Given the description of an element on the screen output the (x, y) to click on. 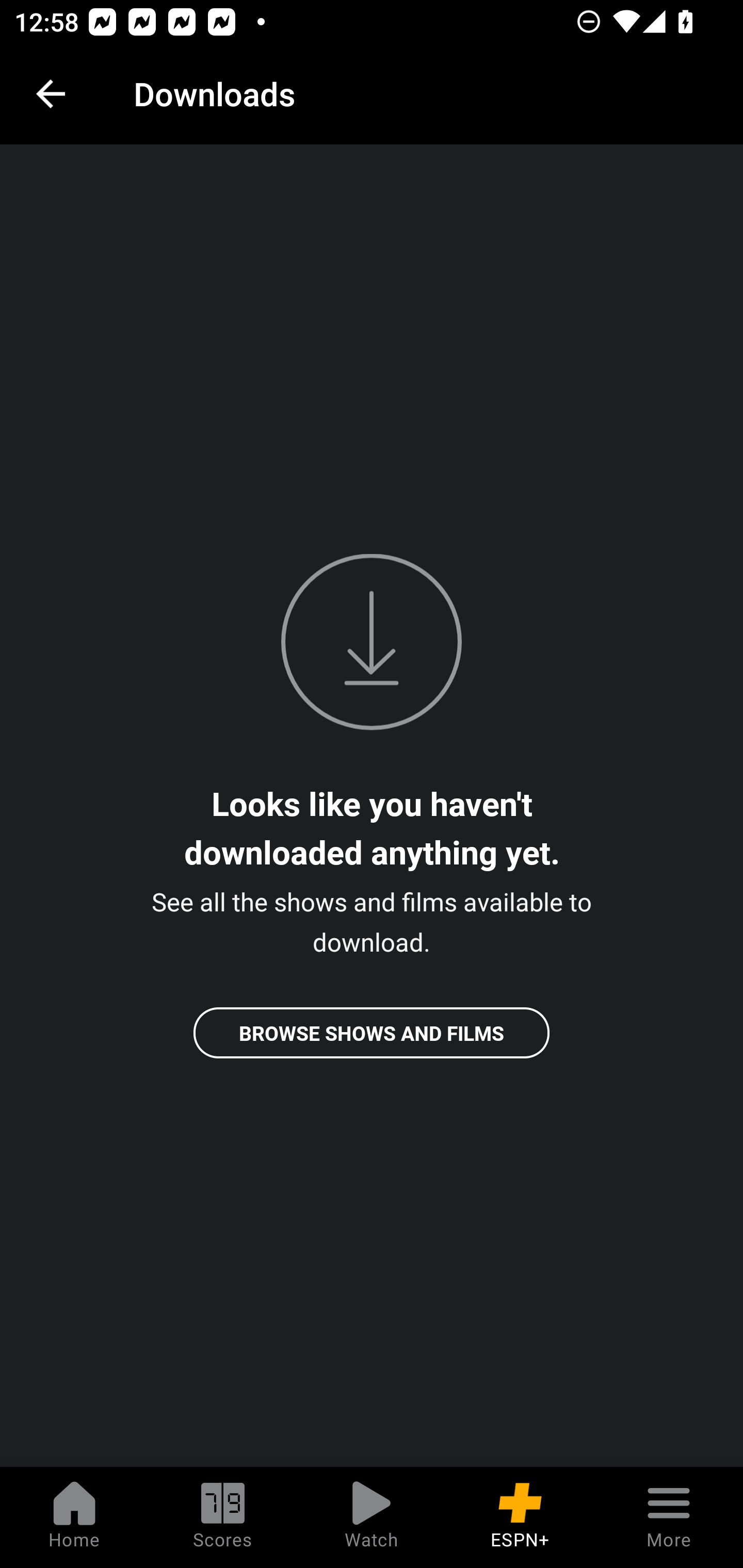
BROWSE SHOWS AND FILMS (371, 1032)
Home (74, 1517)
Scores (222, 1517)
Watch (371, 1517)
More (668, 1517)
